Given the description of an element on the screen output the (x, y) to click on. 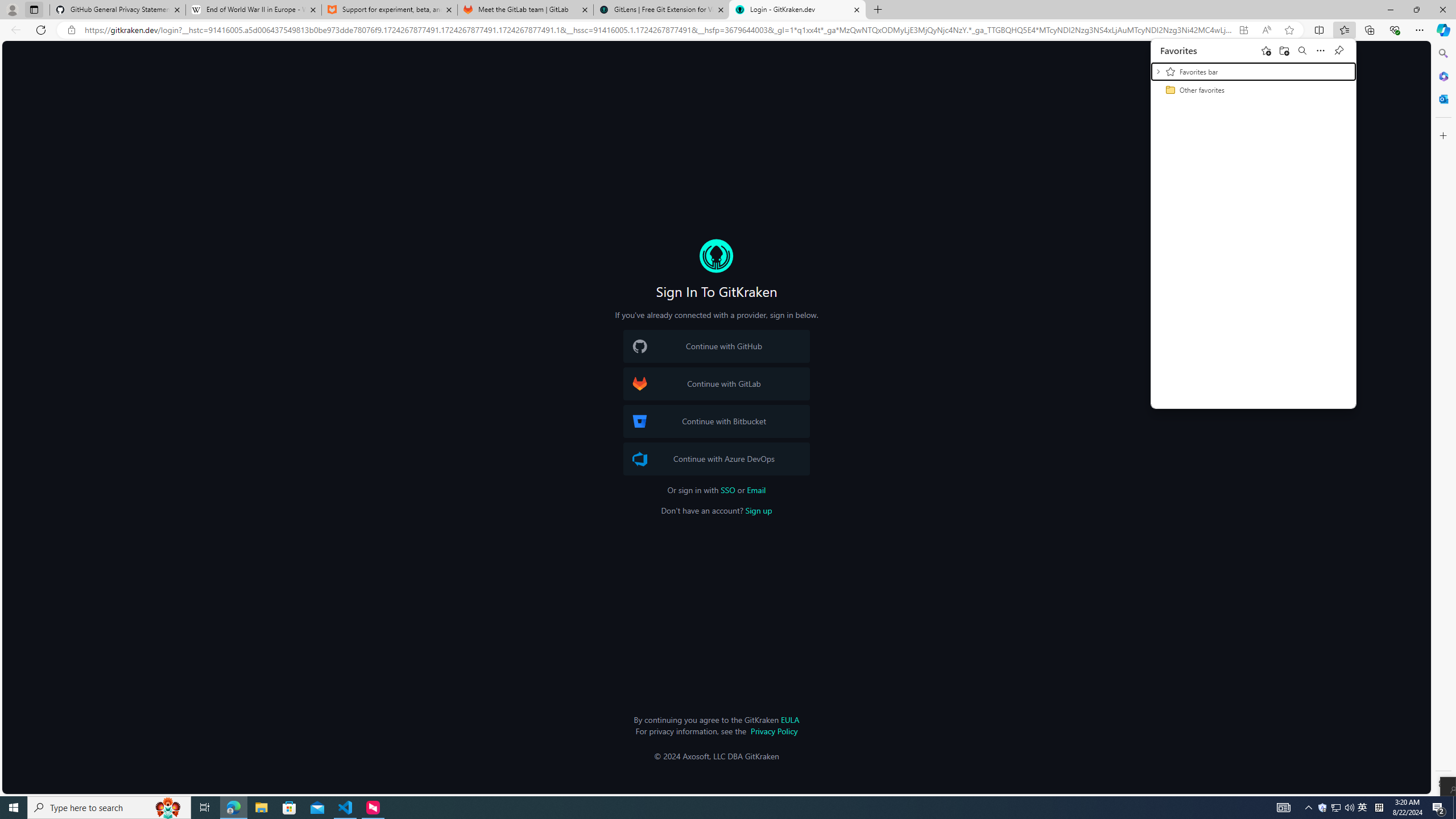
Privacy Policy (773, 730)
Notification Chevron (1308, 807)
Show desktop (1454, 807)
Add this page to favorites (1265, 49)
Visual Studio Code - 1 running window (345, 807)
